Given the description of an element on the screen output the (x, y) to click on. 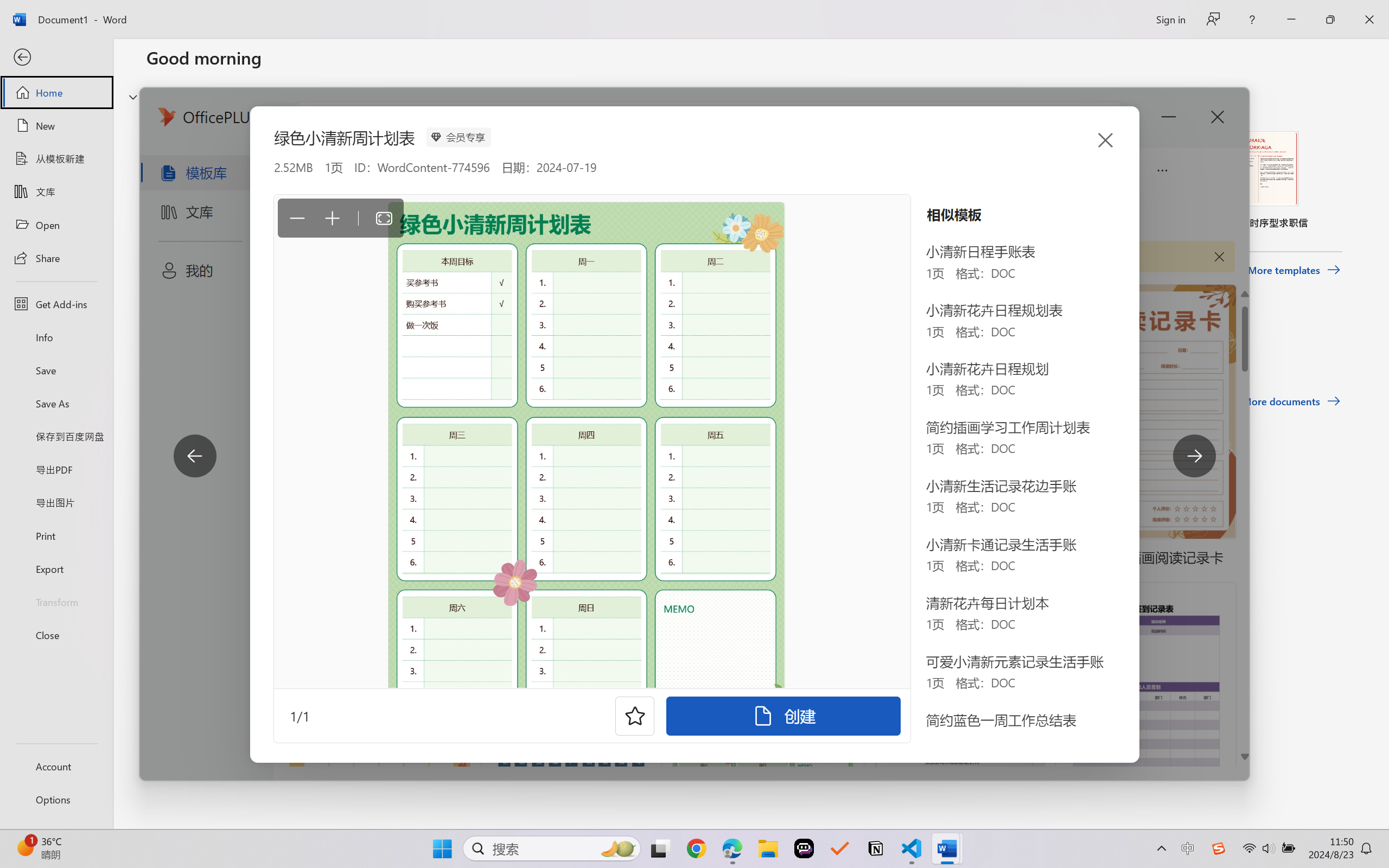
YouTube (844, 12)
Create your Google Account (560, 12)
Google Account (731, 12)
Chrome Web Store (632, 304)
New Tab (1183, 12)
Sign in - Google Accounts (446, 12)
New Tab (1014, 12)
